Given the description of an element on the screen output the (x, y) to click on. 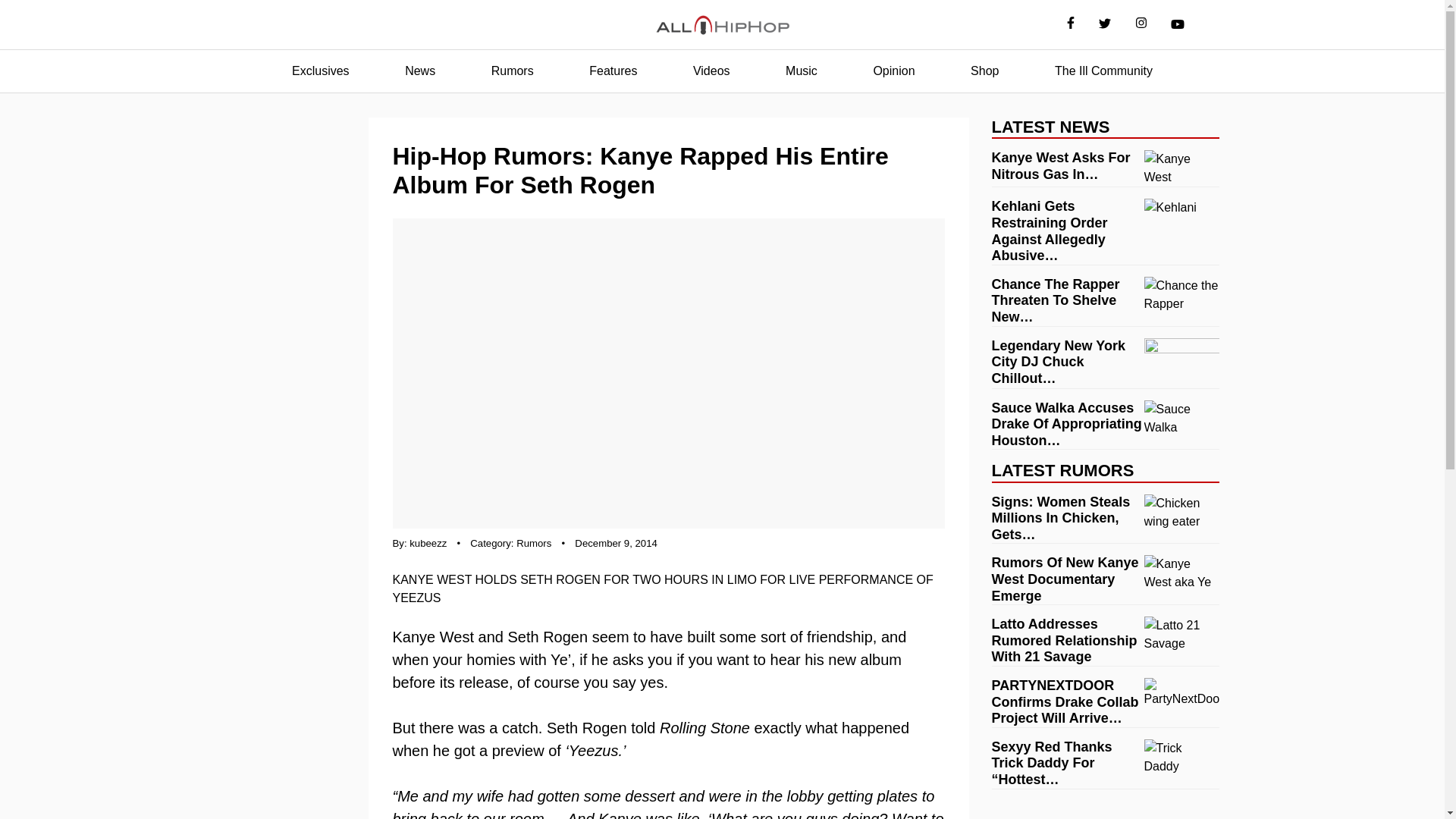
Videos (711, 70)
Rumors (533, 542)
Exclusives (320, 70)
Shop (984, 70)
The Ill Community (1103, 70)
kubeezz (427, 542)
December 9, 2014 (616, 542)
Music (801, 70)
AllHipHop (722, 25)
Features (612, 70)
